Given the description of an element on the screen output the (x, y) to click on. 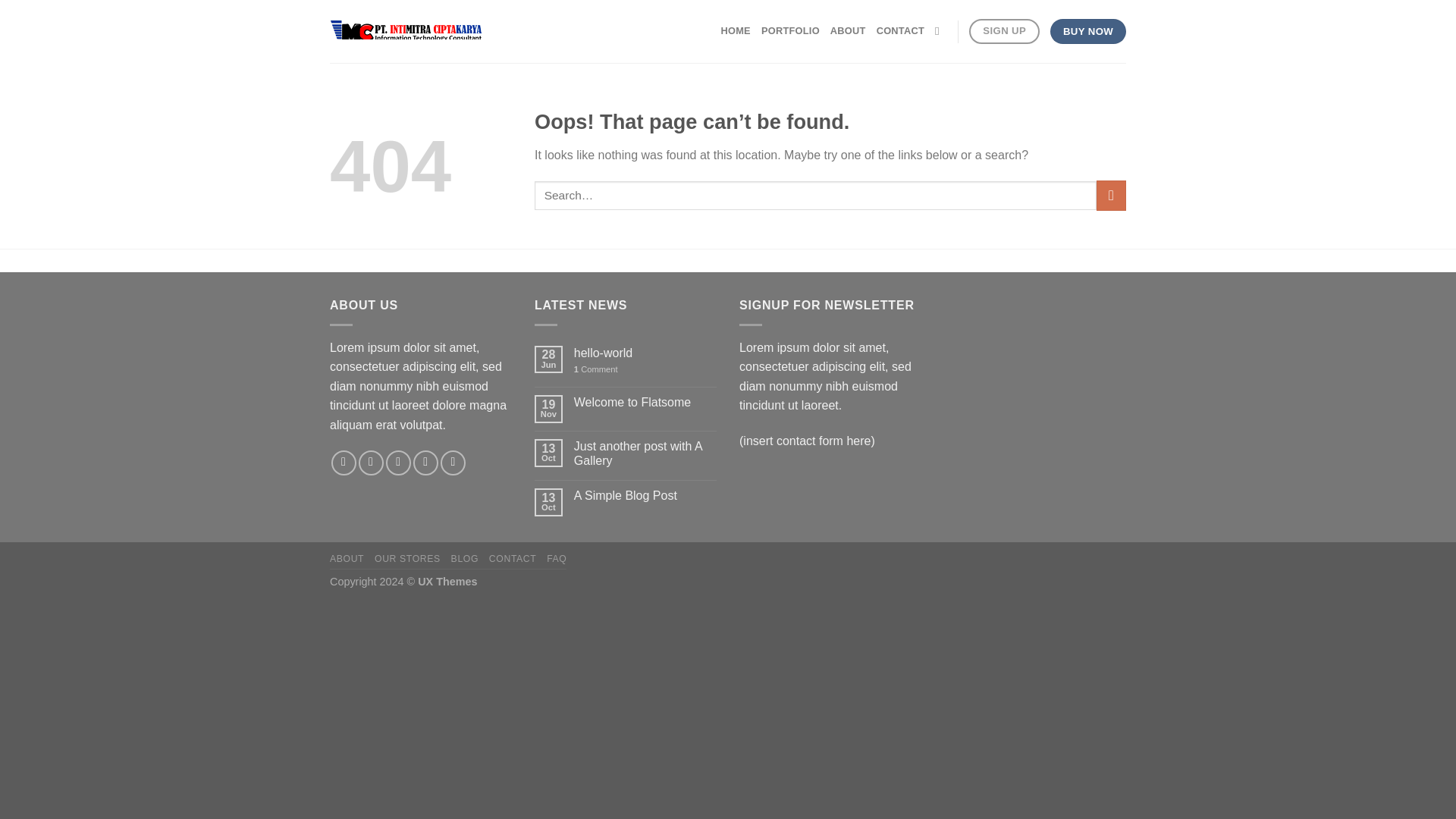
Welcome to Flatsome (644, 401)
hello-world (644, 352)
A Simple Blog Post (644, 495)
BLOG (465, 558)
CONTACT (900, 30)
1 Comment (644, 369)
PORTFOLIO (790, 30)
HOME (734, 30)
ABOUT (847, 30)
intimitra ciptakarya (405, 31)
FAQ (556, 558)
ABOUT (347, 558)
BUY NOW (1087, 31)
A Simple Blog Post (644, 495)
Just another post with A Gallery (644, 452)
